Given the description of an element on the screen output the (x, y) to click on. 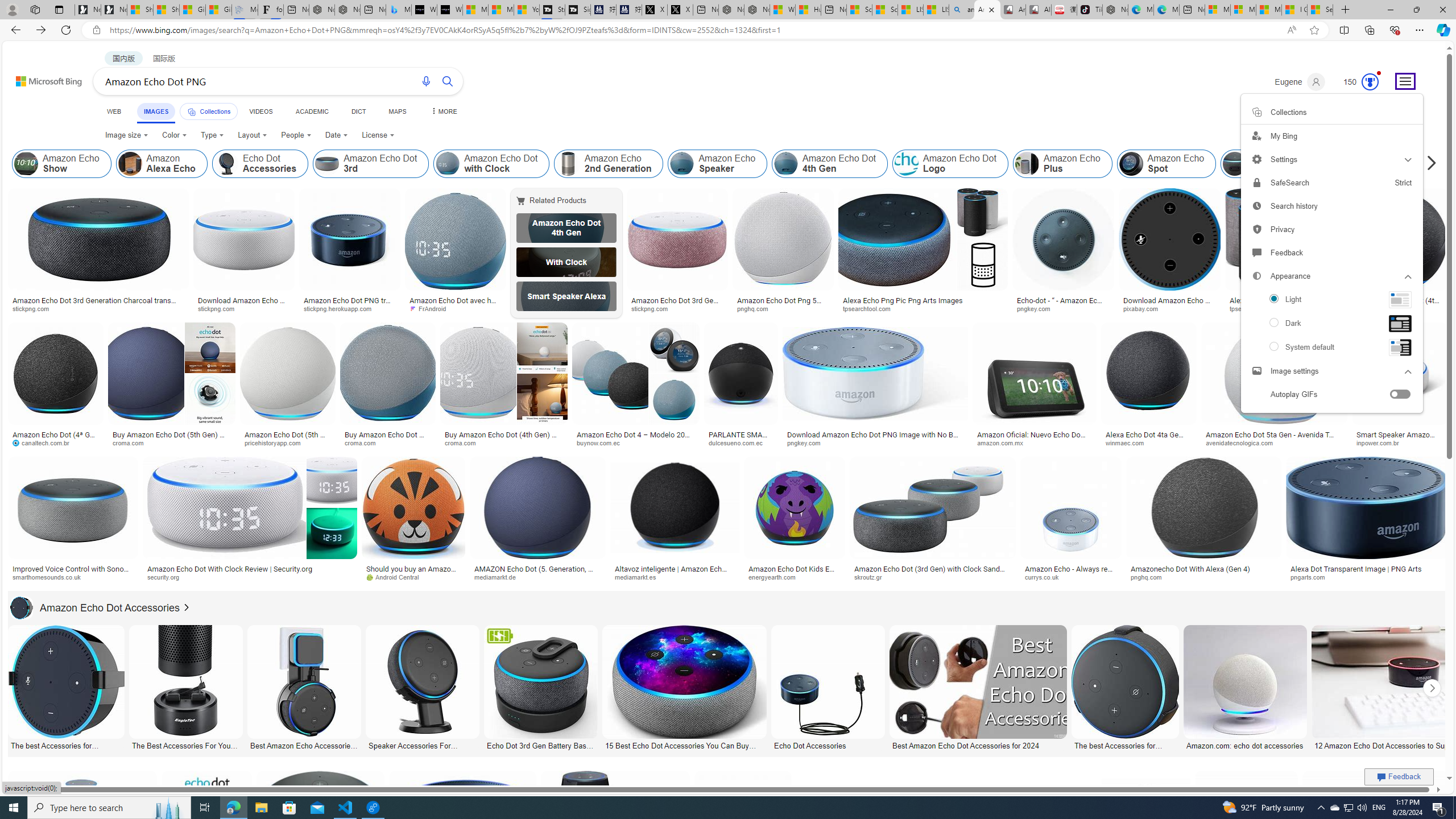
Class: b_pri_nav_svg (191, 112)
